Given the description of an element on the screen output the (x, y) to click on. 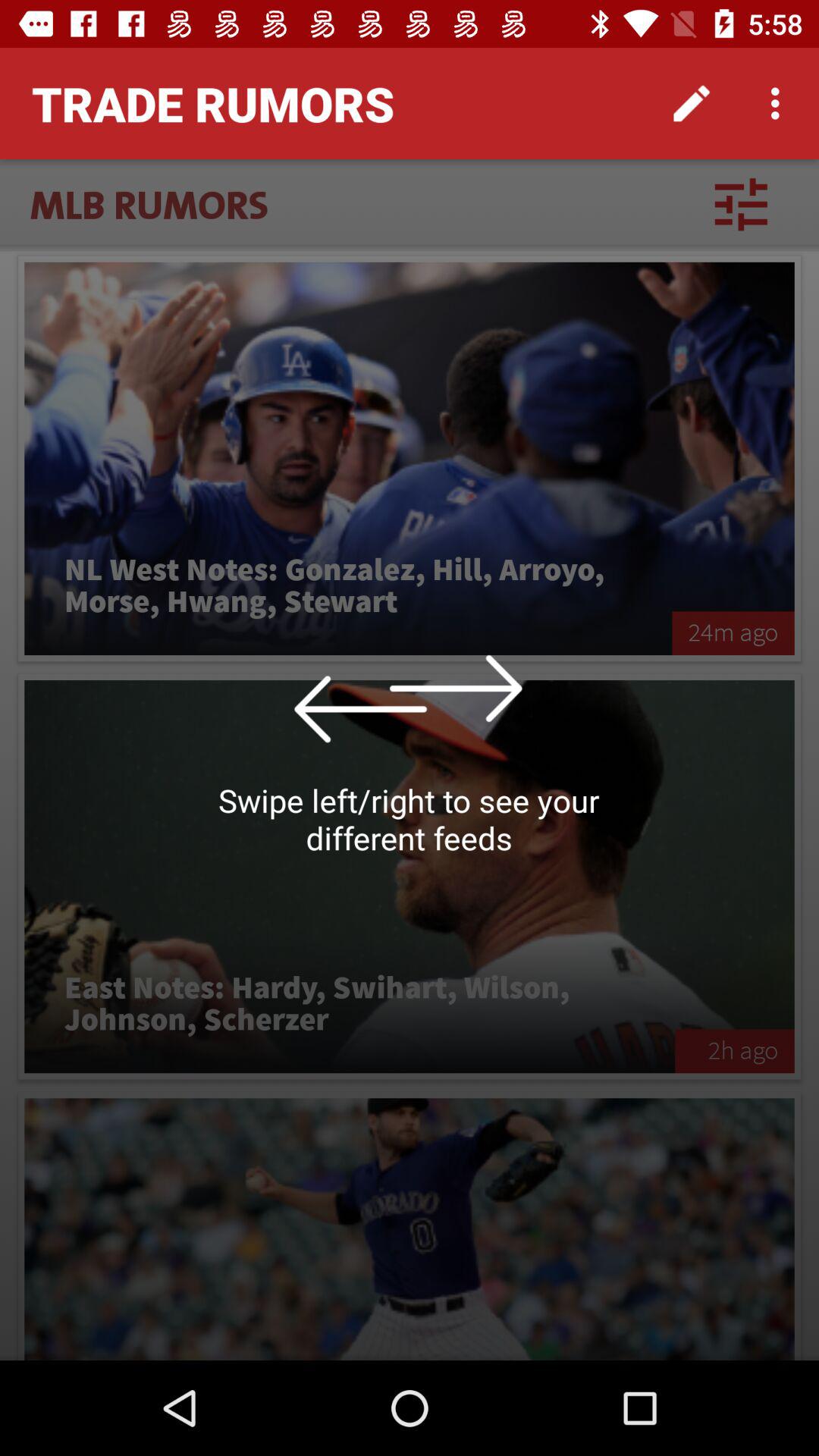
turn off 2h ago item (734, 1051)
